Given the description of an element on the screen output the (x, y) to click on. 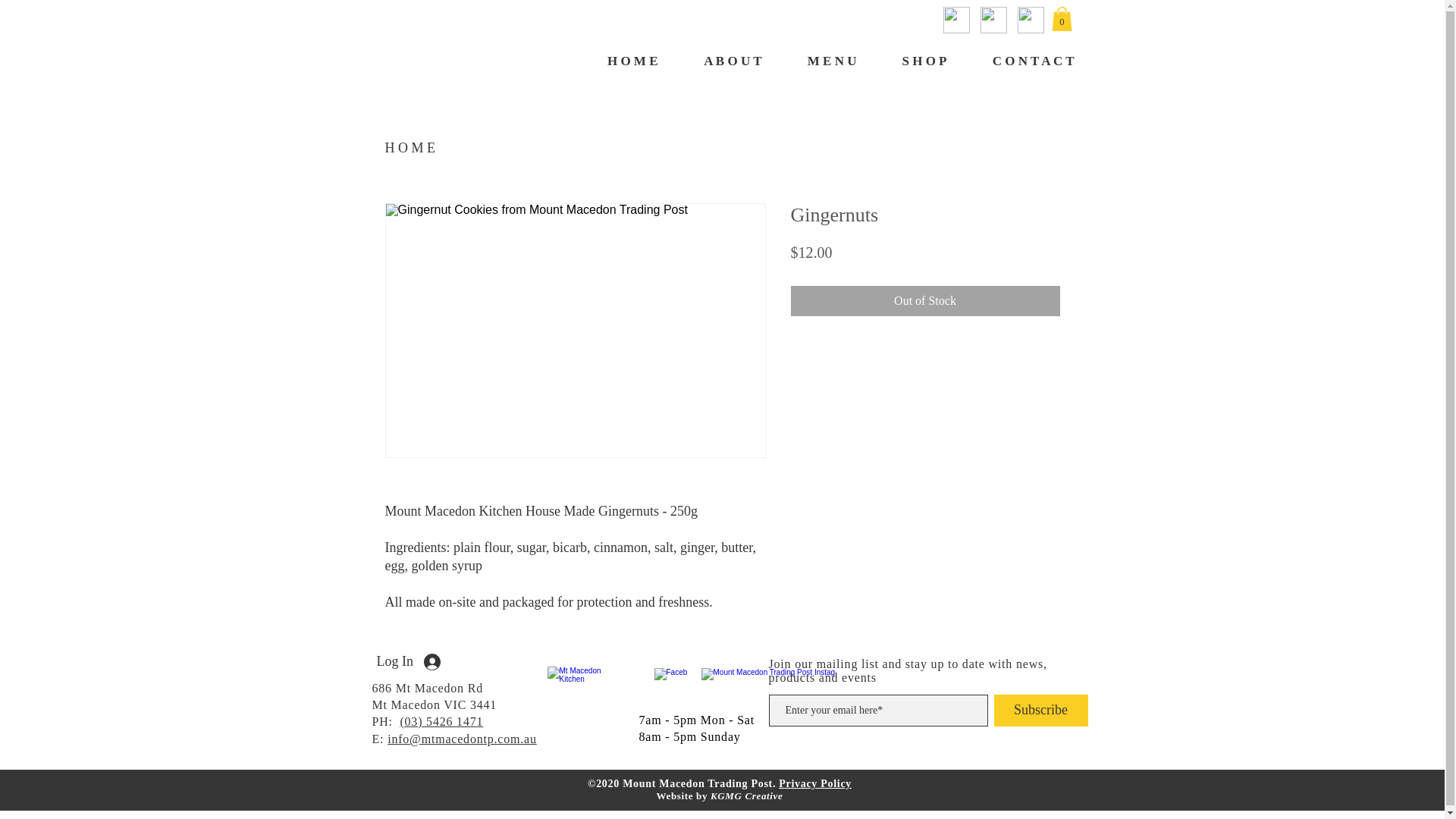
Subscribe Element type: text (1040, 710)
H O M E Element type: text (410, 147)
0 Element type: text (1061, 18)
(03) 5426 1471 Element type: text (441, 721)
Out of Stock Element type: text (924, 300)
e Element type: text (780, 795)
Privacy Policy Element type: text (814, 783)
M E N U Element type: text (820, 61)
A B O U T Element type: text (720, 61)
S H O P Element type: text (912, 61)
C O N T A C T Element type: text (1021, 61)
H O M E Element type: text (619, 61)
info@mtmacedontp.com.au Element type: text (461, 738)
Log In Element type: text (408, 661)
KGMG Creativ Element type: text (744, 795)
